Given the description of an element on the screen output the (x, y) to click on. 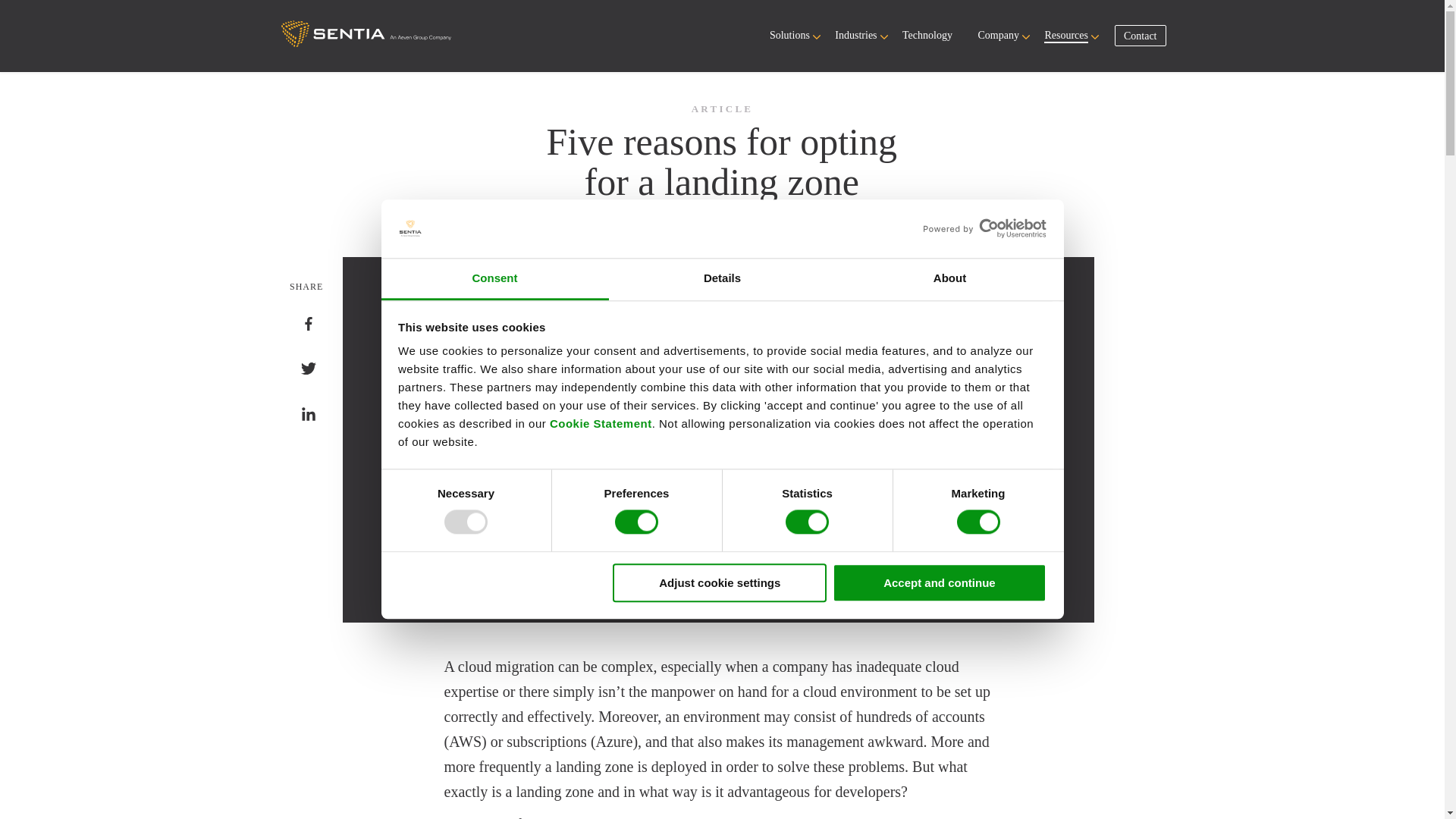
Cookie Statement (601, 423)
About (948, 279)
Details (721, 279)
Consent (494, 279)
vast.png (365, 33)
